Given the description of an element on the screen output the (x, y) to click on. 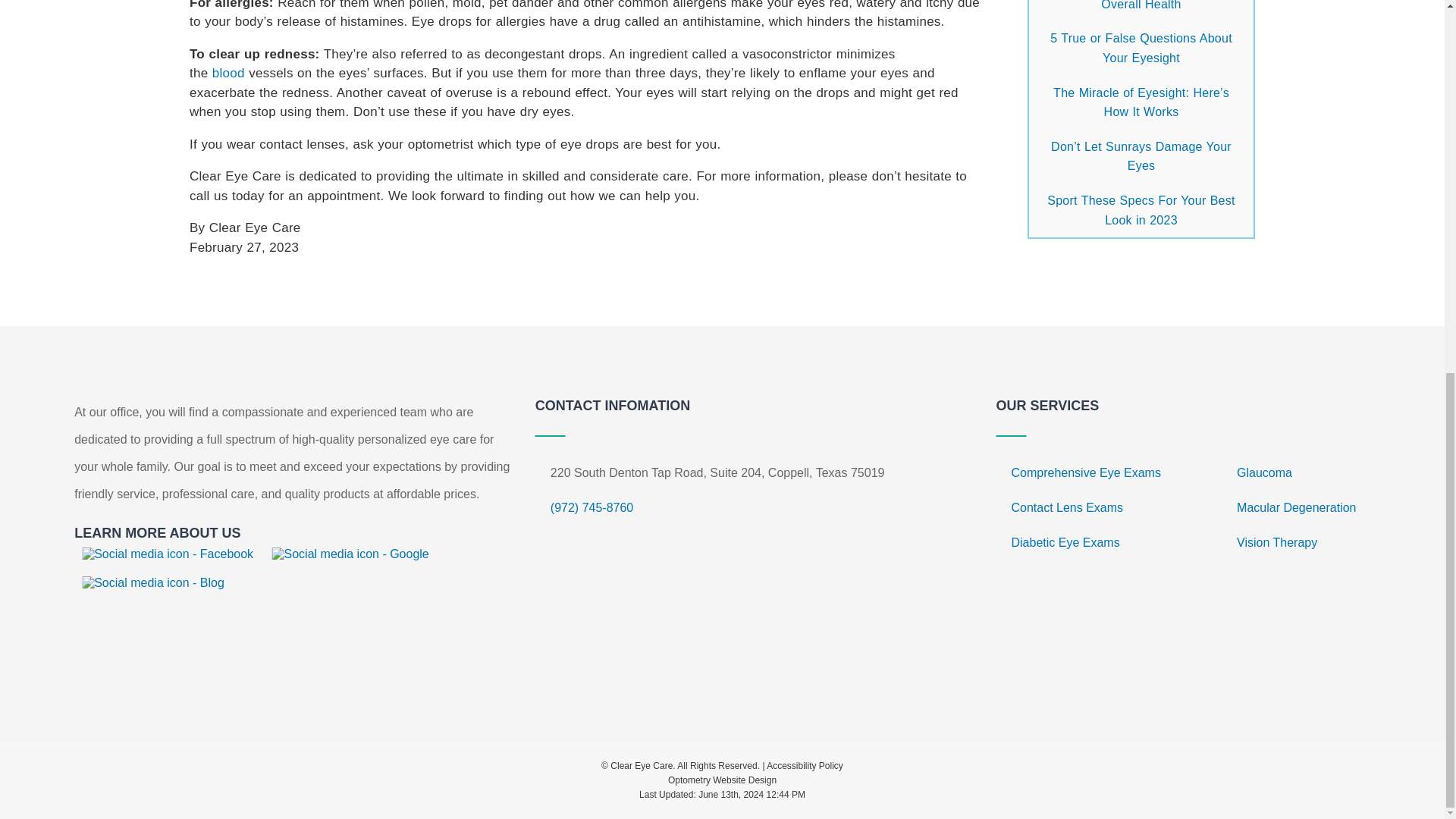
Glaucoma (1264, 472)
Comprehensive Eye Exams (1085, 472)
Optometry Website Design (722, 779)
Accessibility Policy (805, 765)
Vision Therapy (1276, 542)
5 True or False Questions About Your Eyesight (1140, 47)
Google Map (732, 604)
Contact Lens Exams (1066, 507)
Sport These Specs For Your Best Look in 2023 (1140, 210)
Macular Degeneration (1295, 507)
blood (228, 73)
Diabetic Eye Exams (1064, 542)
What Our Eyes Reveal About Our Overall Health (1140, 5)
